Given the description of an element on the screen output the (x, y) to click on. 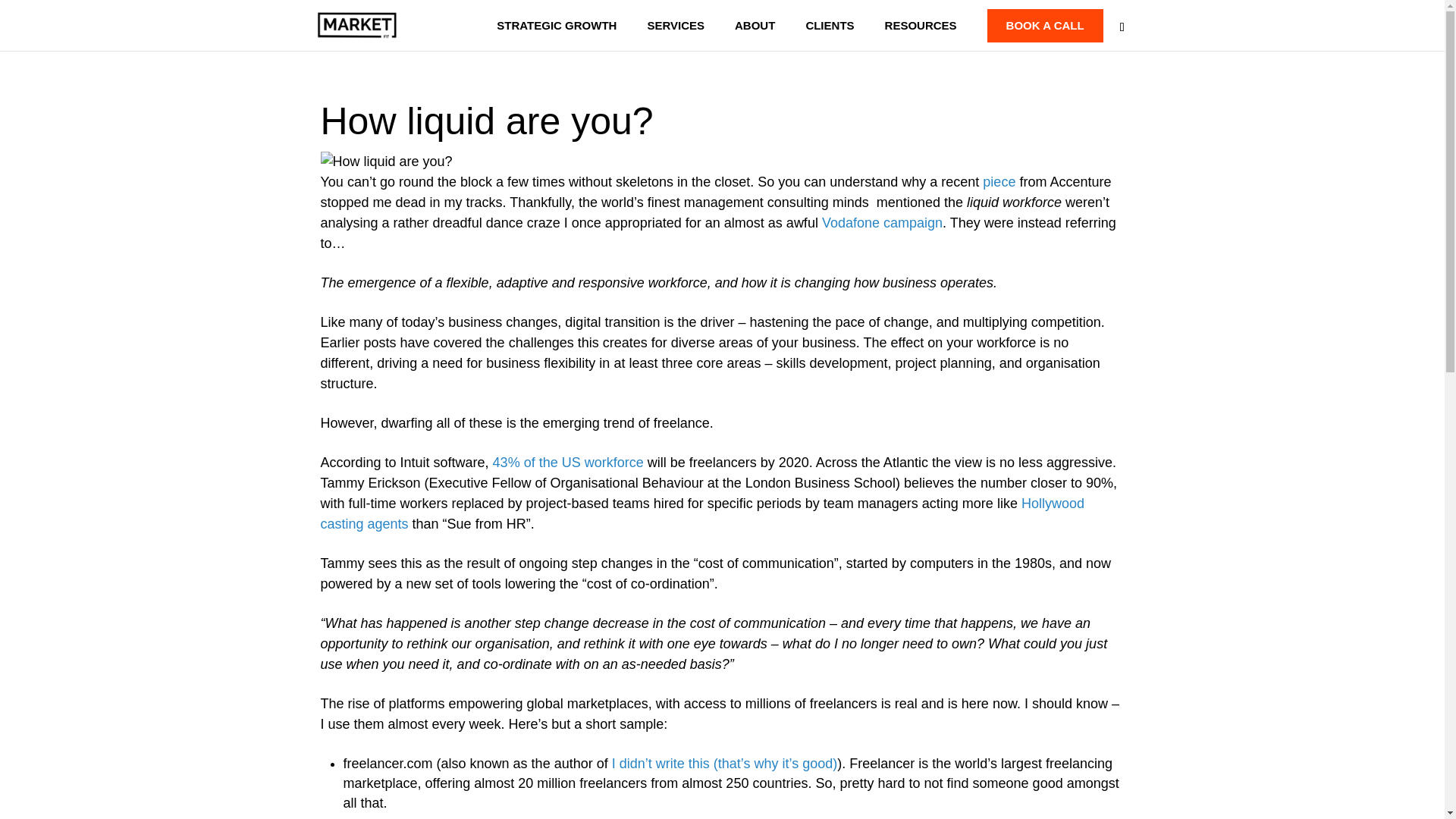
BOOK A CALL (1045, 25)
piece (998, 181)
ABOUT (754, 35)
CLIENTS (829, 35)
Hollywood casting agents (701, 513)
SERVICES (675, 35)
STRATEGIC GROWTH (555, 35)
Vodafone campaign (882, 222)
RESOURCES (920, 35)
